Given the description of an element on the screen output the (x, y) to click on. 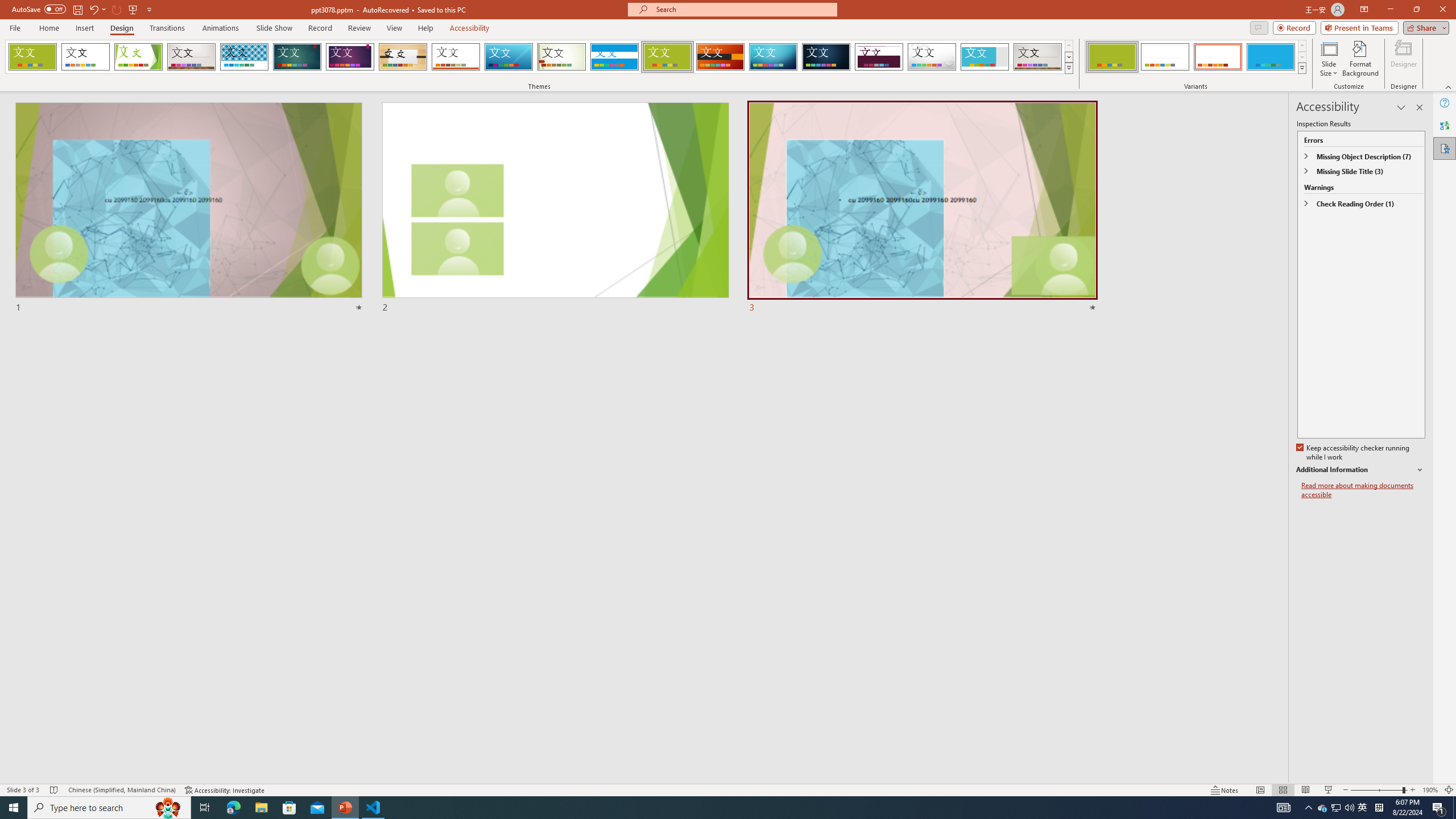
Slice (508, 56)
Slide Size (1328, 58)
Berlin (720, 56)
